Given the description of an element on the screen output the (x, y) to click on. 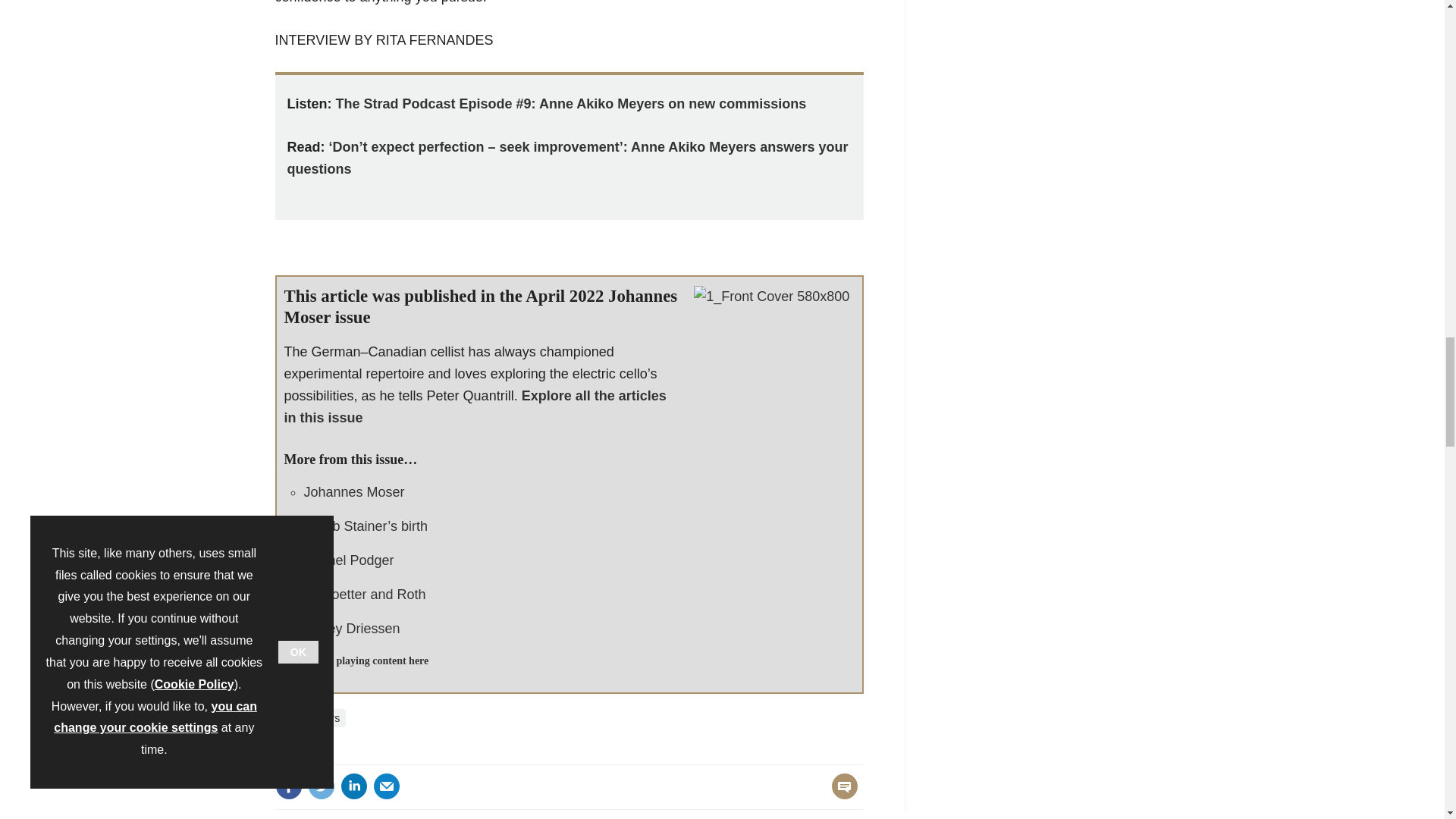
Share this on Linked in (352, 786)
Share this on Twitter (320, 786)
No comments (840, 795)
Email this article (386, 786)
Share this on Facebook (288, 786)
